Given the description of an element on the screen output the (x, y) to click on. 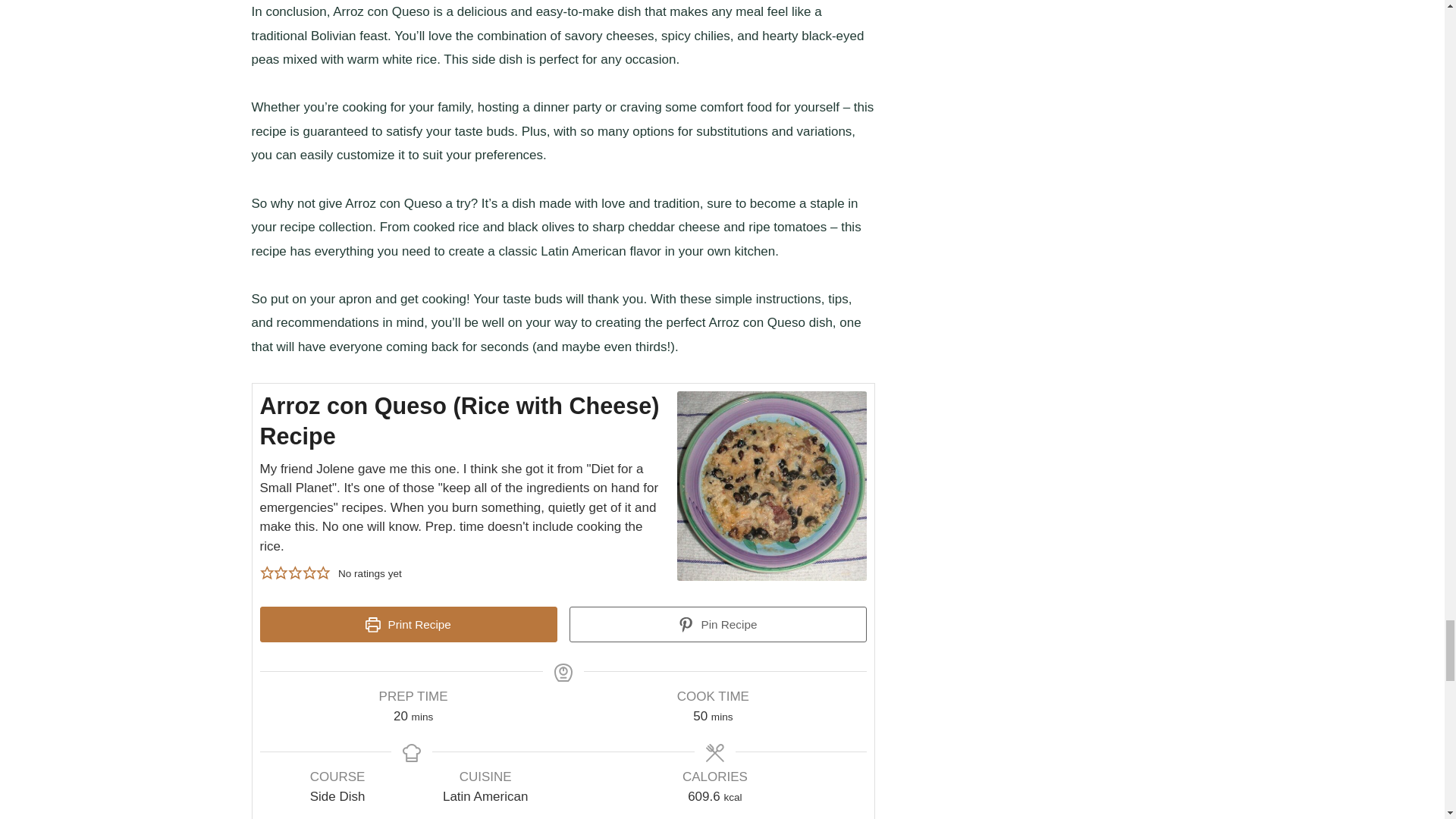
Print Recipe (407, 624)
Pin Recipe (717, 624)
